Given the description of an element on the screen output the (x, y) to click on. 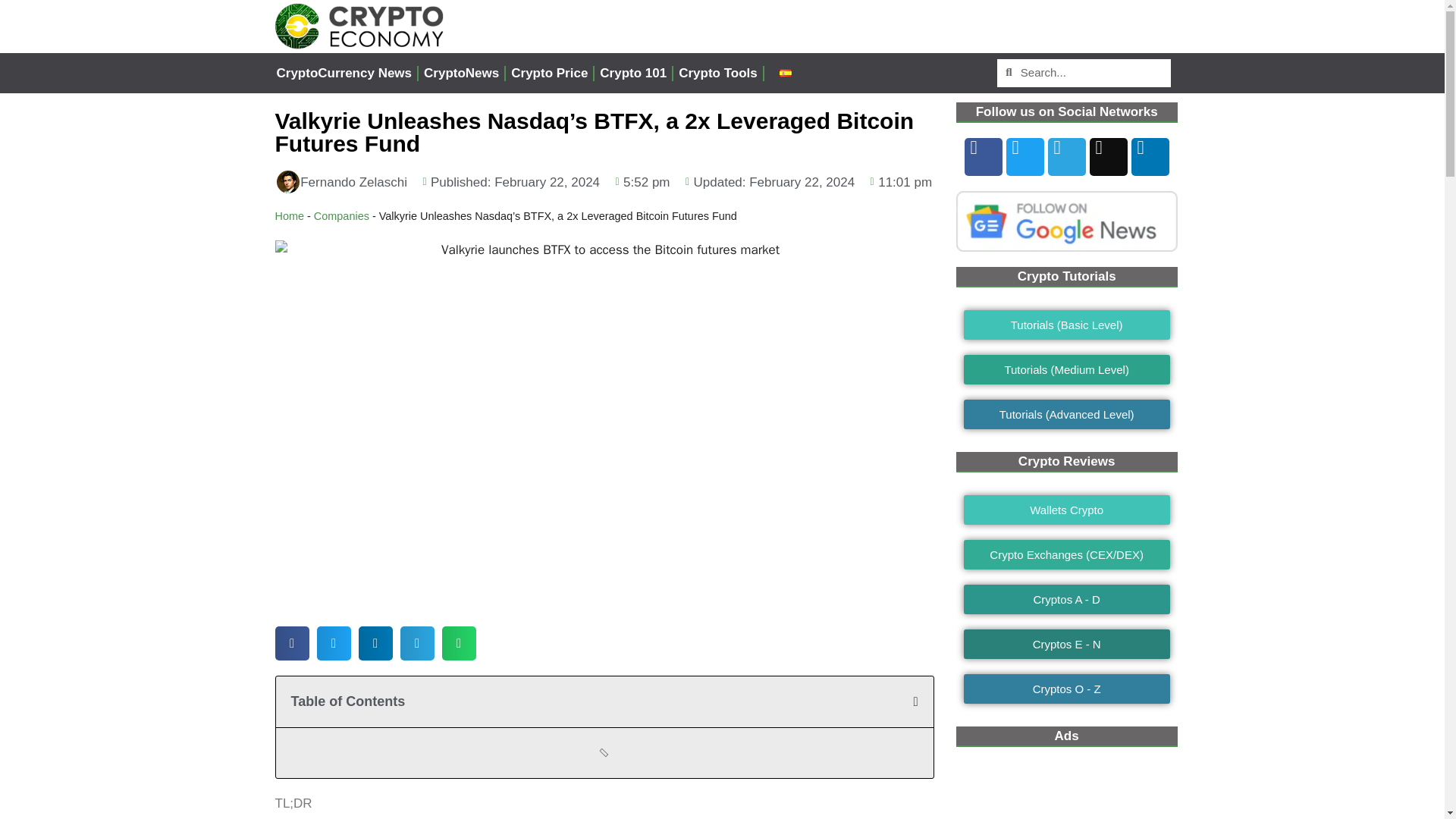
CryptoCurrency News (343, 72)
CryptoNews (461, 72)
Crypto 101 (632, 72)
Crypto Price (548, 72)
